Given the description of an element on the screen output the (x, y) to click on. 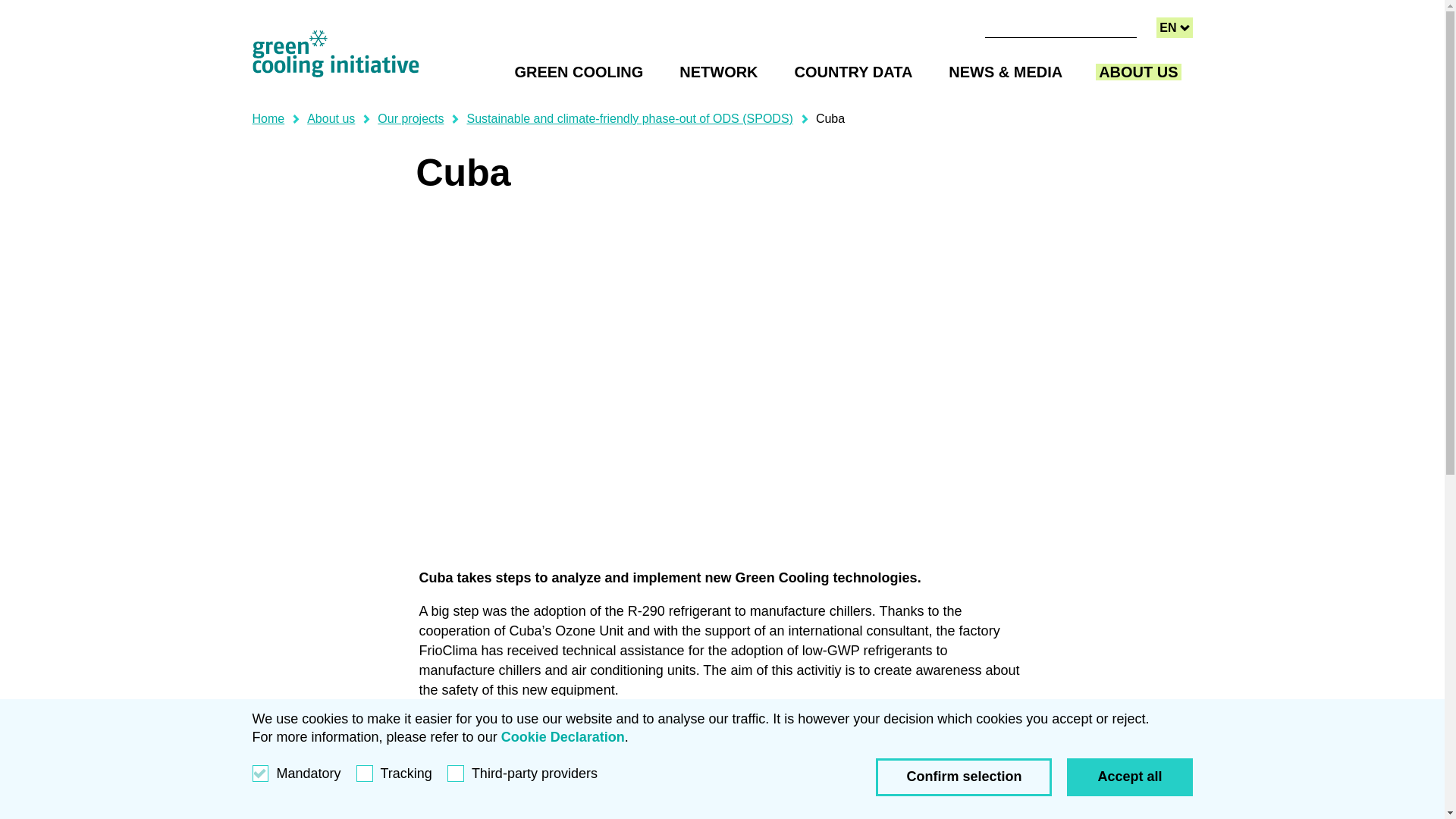
Cuba (829, 118)
Our projects (410, 118)
NETWORK (1174, 27)
GREEN COOLING (718, 71)
Content (578, 71)
COUNTRY DATA (737, 13)
About us (853, 71)
